Given the description of an element on the screen output the (x, y) to click on. 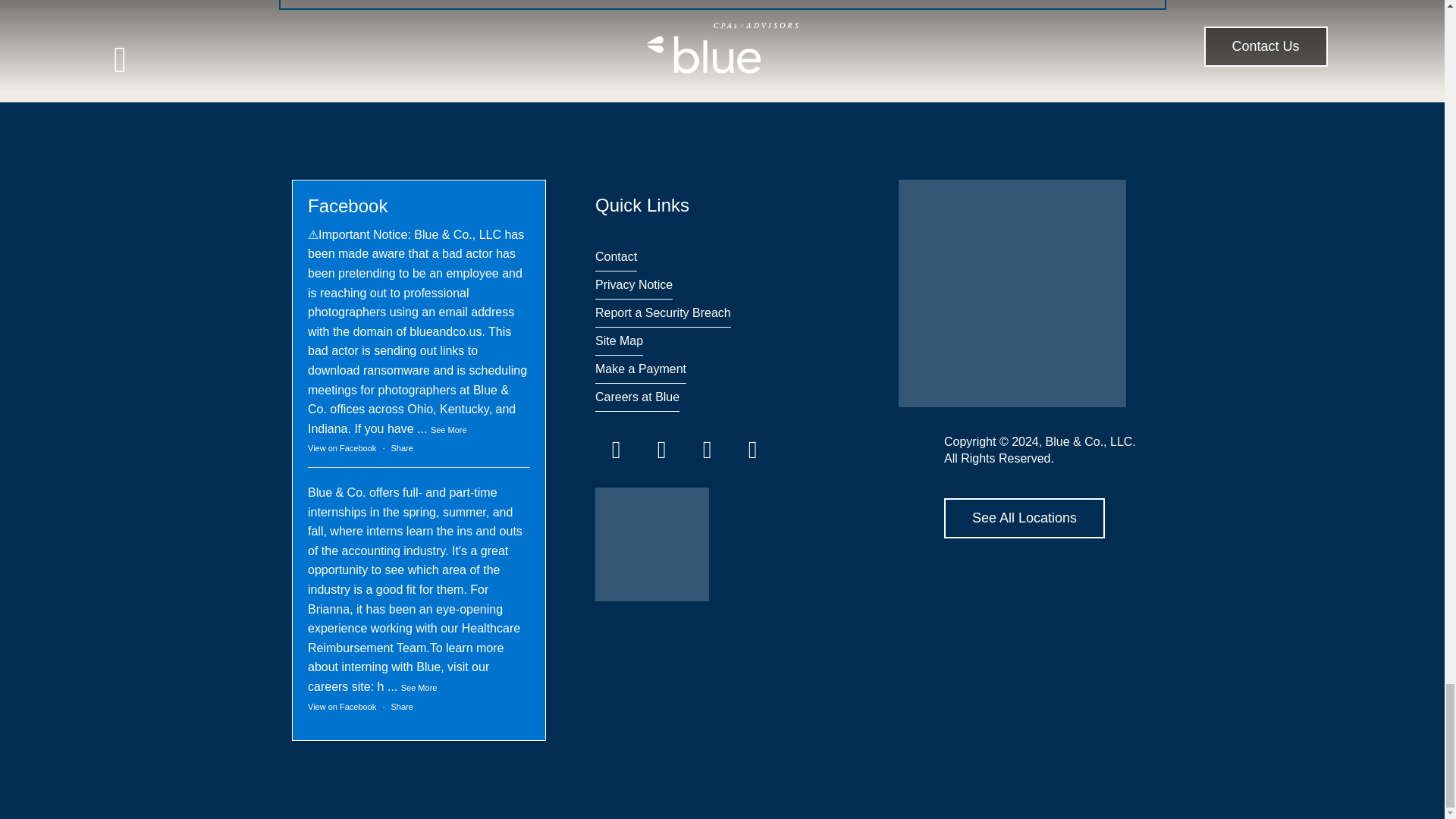
Share (402, 706)
View on Facebook (341, 447)
View on Facebook (341, 706)
Share (402, 447)
